Given the description of an element on the screen output the (x, y) to click on. 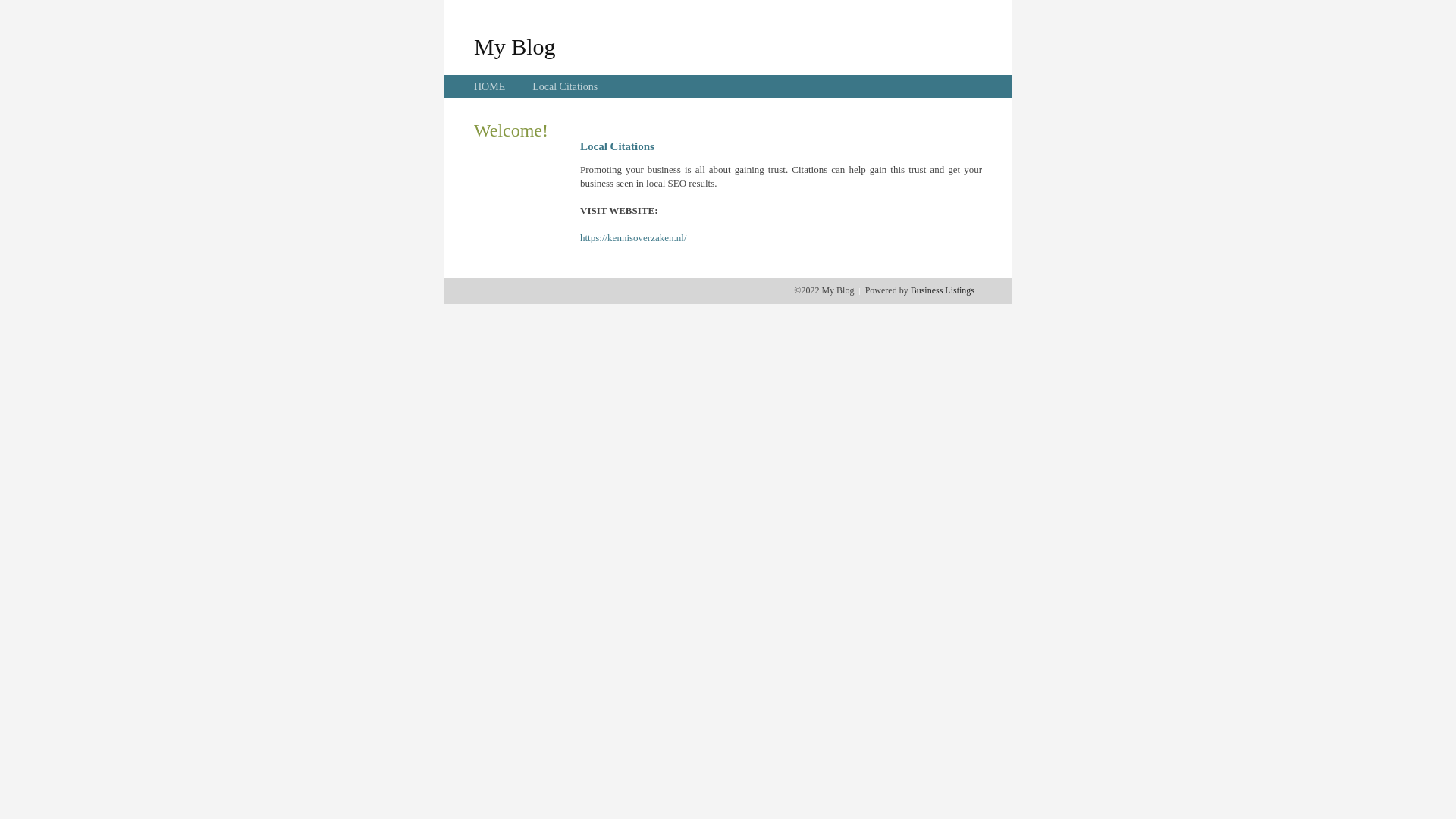
Business Listings Element type: text (942, 290)
My Blog Element type: text (514, 46)
https://kennisoverzaken.nl/ Element type: text (633, 237)
HOME Element type: text (489, 86)
Local Citations Element type: text (564, 86)
